Given the description of an element on the screen output the (x, y) to click on. 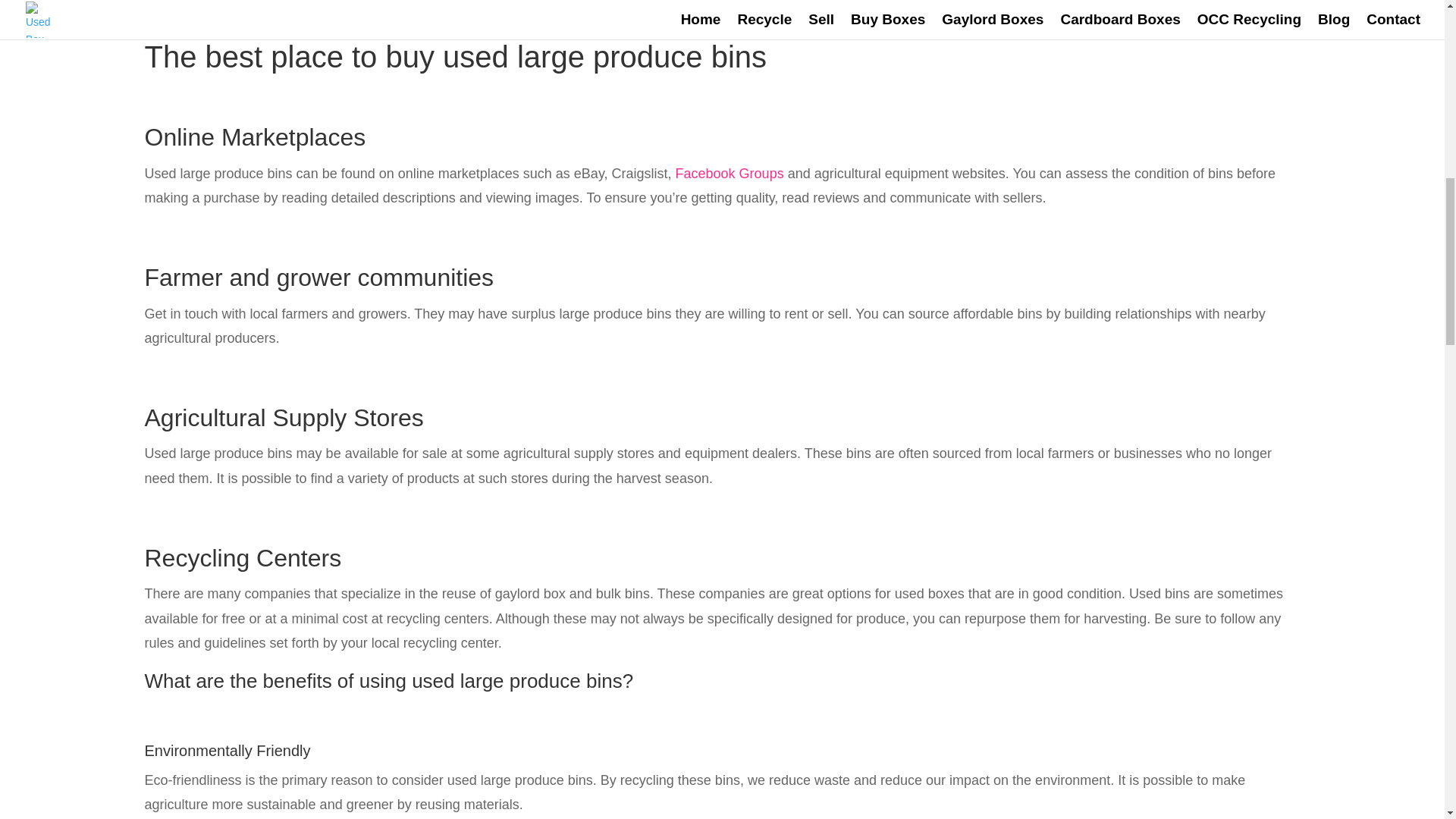
Facebook Groups (729, 173)
